Given the description of an element on the screen output the (x, y) to click on. 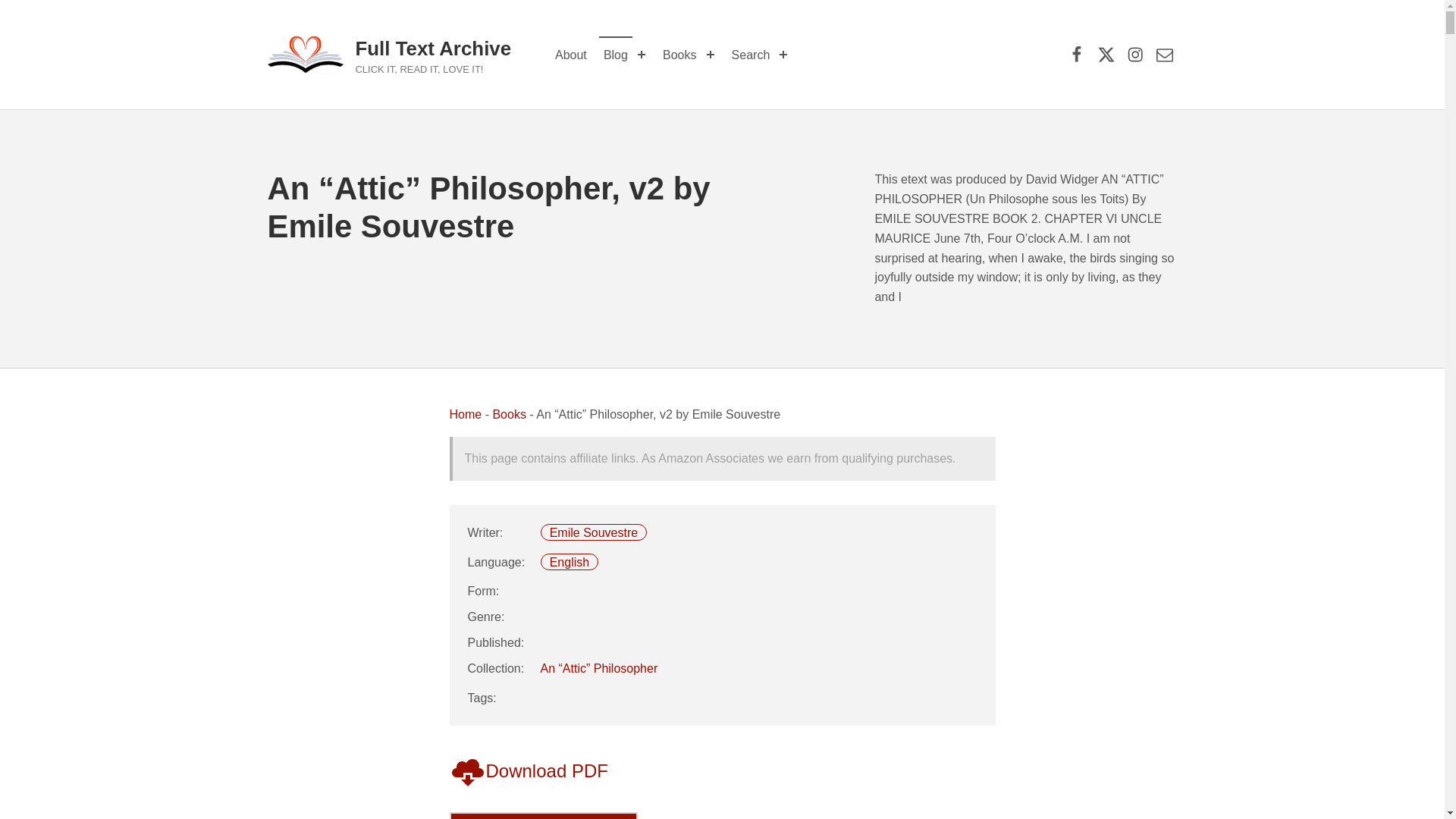
Blog (614, 54)
Emile Souvestre (594, 532)
Search (750, 54)
Download PDF (527, 770)
Home (464, 413)
FREE AUDIBLE 30 DAYS (542, 815)
English (569, 562)
About (570, 54)
Full Text Archive (433, 47)
Books (679, 54)
Books (508, 413)
